Given the description of an element on the screen output the (x, y) to click on. 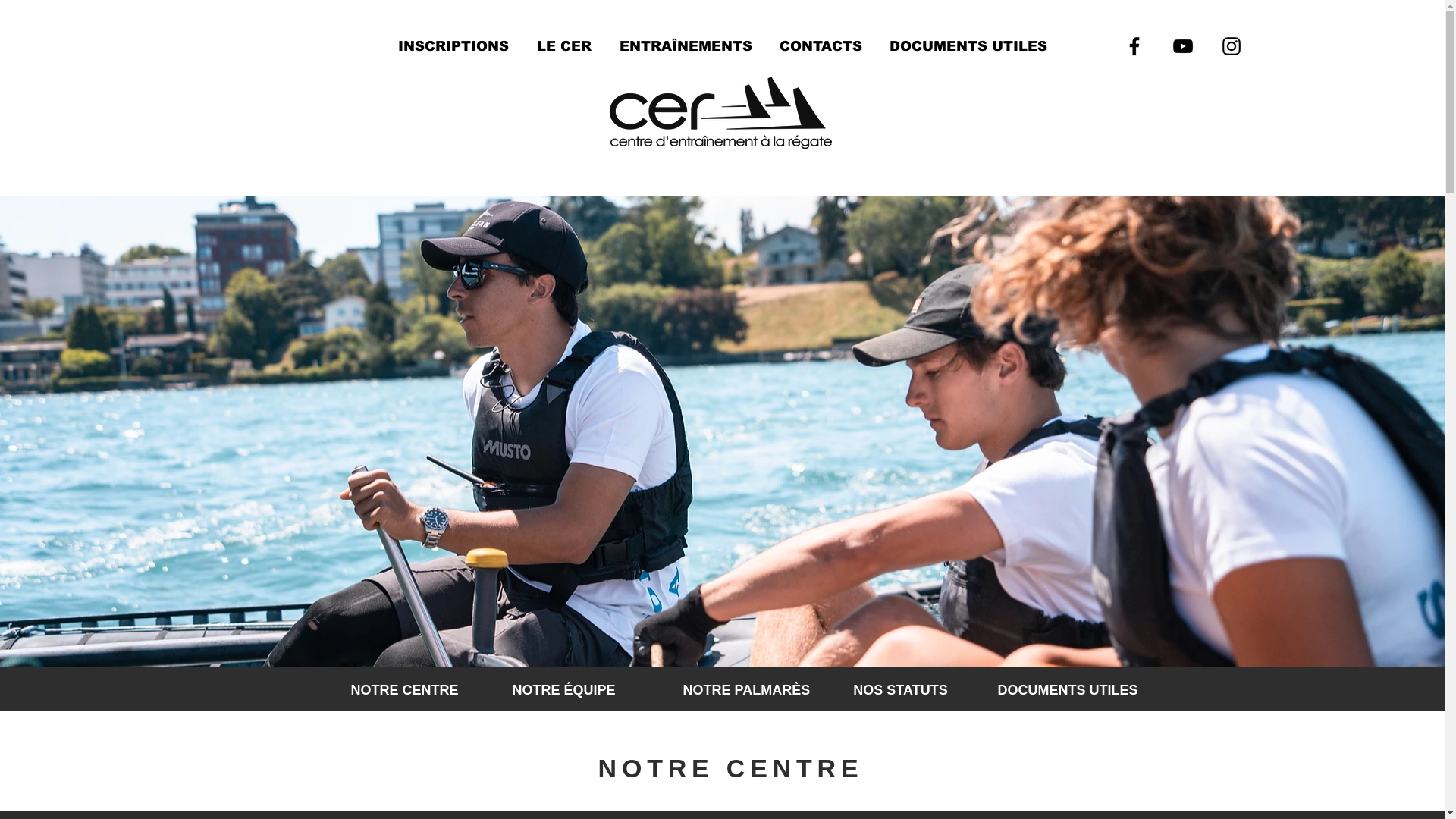
DOCUMENTS UTILES Element type: text (1067, 690)
INSCRIPTIONS Element type: text (452, 45)
NOTRE CENTRE Element type: text (404, 690)
Logo_CER_transp.png Element type: hover (719, 115)
CONTACTS Element type: text (820, 45)
NOS STATUTS Element type: text (899, 690)
DOCUMENTS UTILES Element type: text (967, 45)
LE CER Element type: text (564, 45)
